Given the description of an element on the screen output the (x, y) to click on. 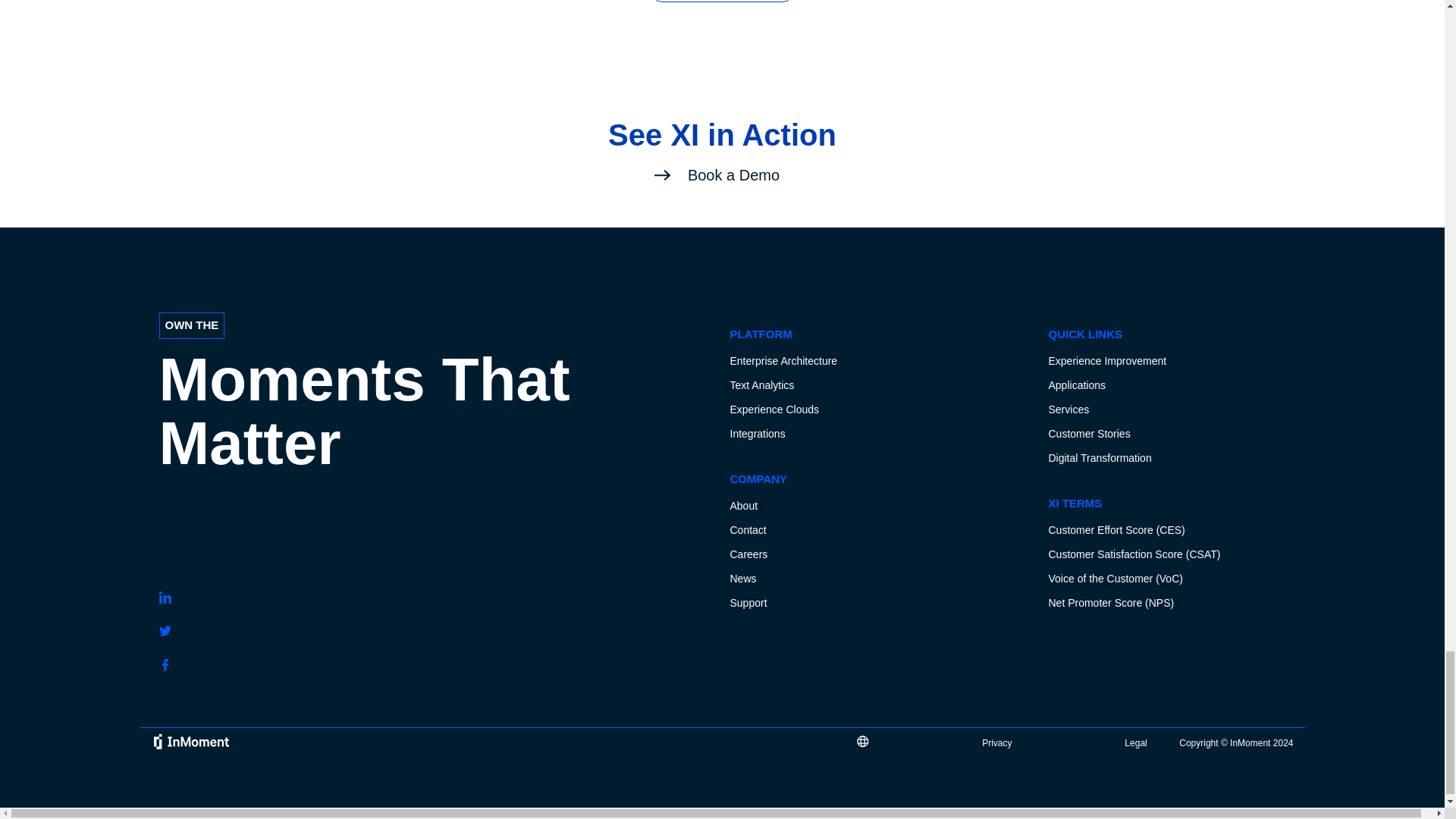
linkedin (164, 597)
facebook (164, 664)
twitter (164, 630)
